Given the description of an element on the screen output the (x, y) to click on. 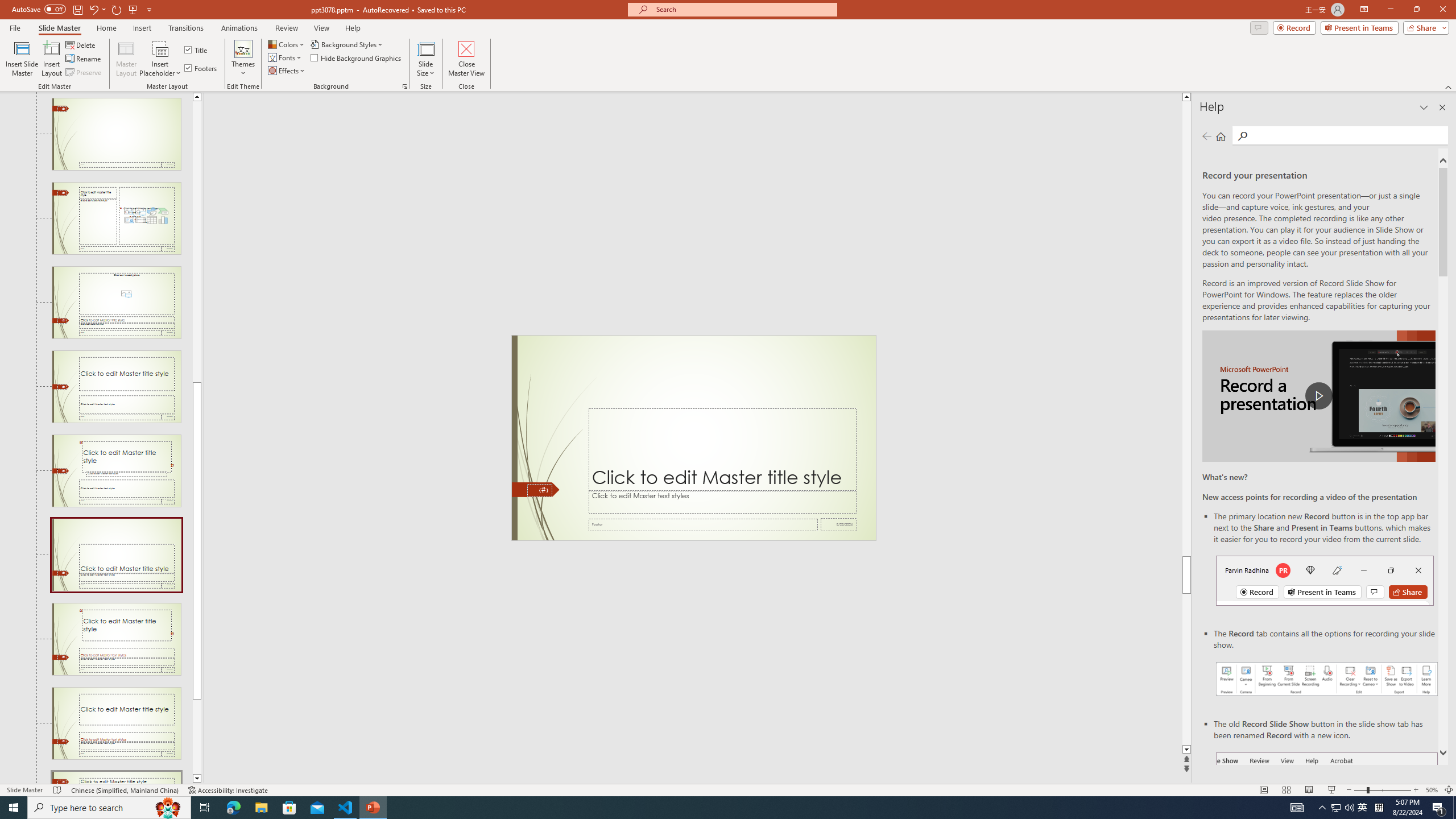
Hide Background Graphics (356, 56)
Slide Name Card Layout: used by no slides (116, 555)
Slide Master (59, 28)
Record your presentations screenshot one (1326, 678)
Slide Title and Vertical Text Layout: used by no slides (116, 777)
